Given the description of an element on the screen output the (x, y) to click on. 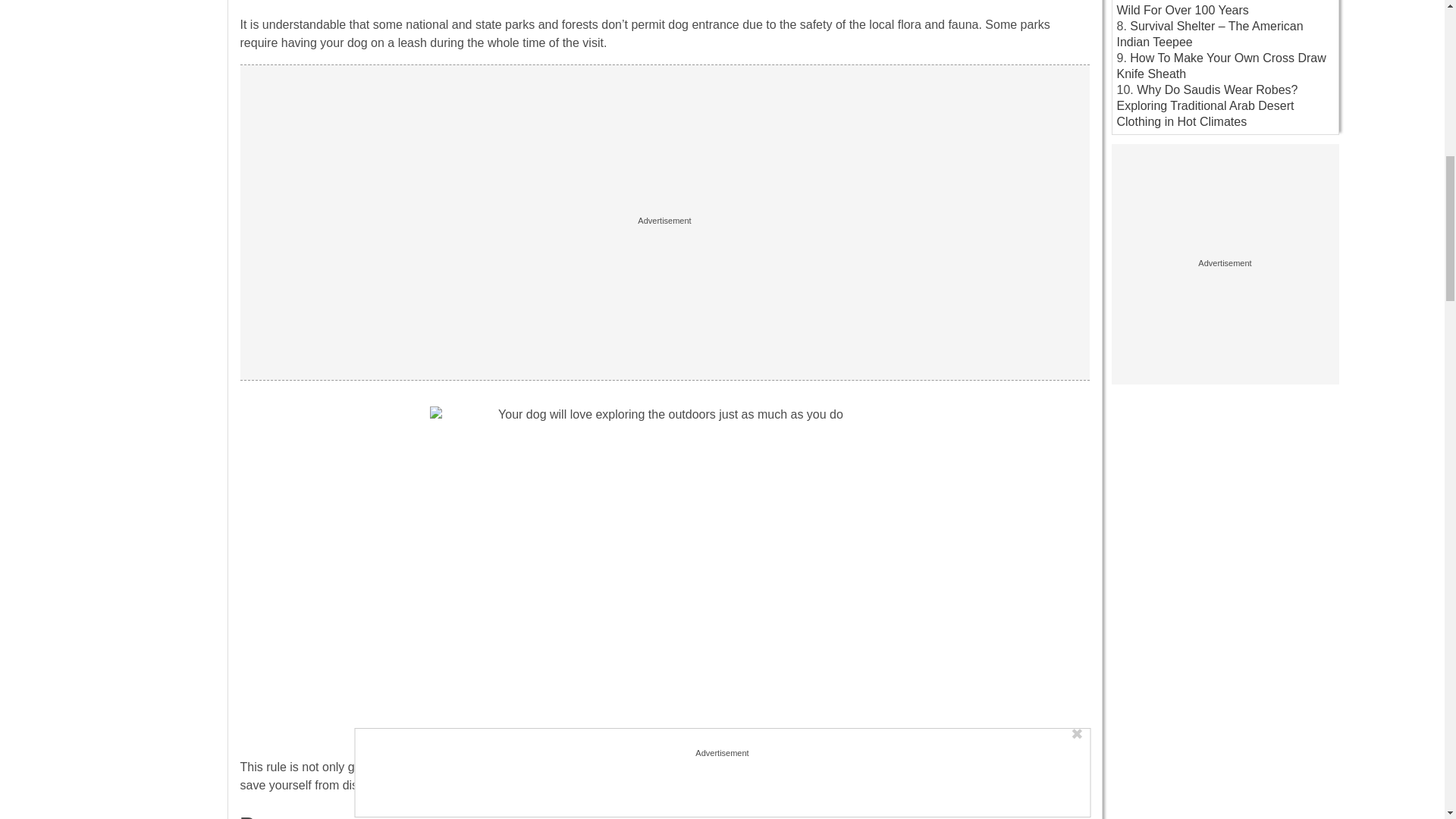
The First Wolverines Seen In The Wild For Over 100 Years (1213, 8)
How To Make Your Own Cross Draw Knife Sheath (1220, 65)
